Given the description of an element on the screen output the (x, y) to click on. 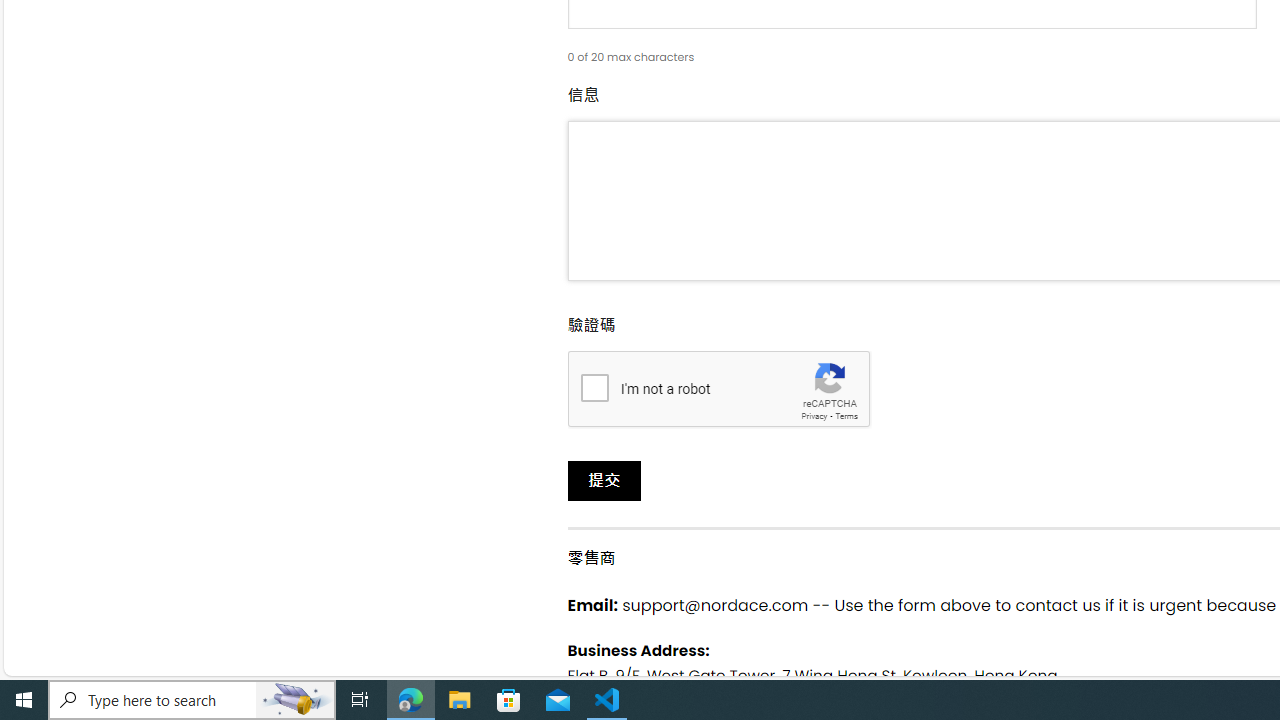
Terms (846, 416)
I'm not a robot (594, 386)
